Given the description of an element on the screen output the (x, y) to click on. 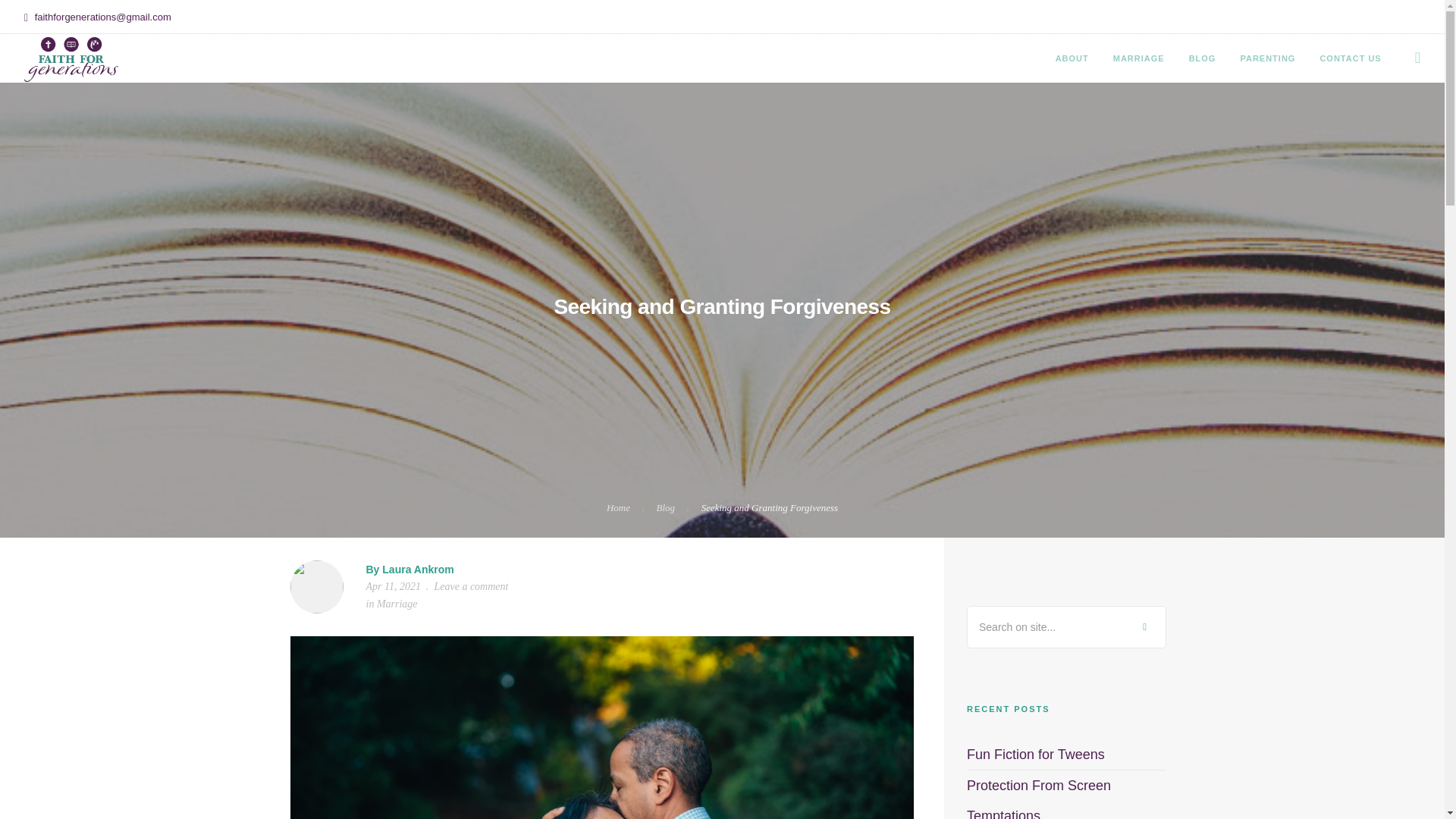
Laura Ankrom (416, 569)
Protection From Screen Temptations (1038, 798)
Home (618, 507)
MARRIAGE (1138, 58)
Posts by Laura Ankrom (416, 569)
Leave a comment (470, 586)
Marriage (397, 603)
PARENTING (1267, 58)
Fun Fiction for Tweens (1035, 754)
CONTACT US (1349, 58)
